Given the description of an element on the screen output the (x, y) to click on. 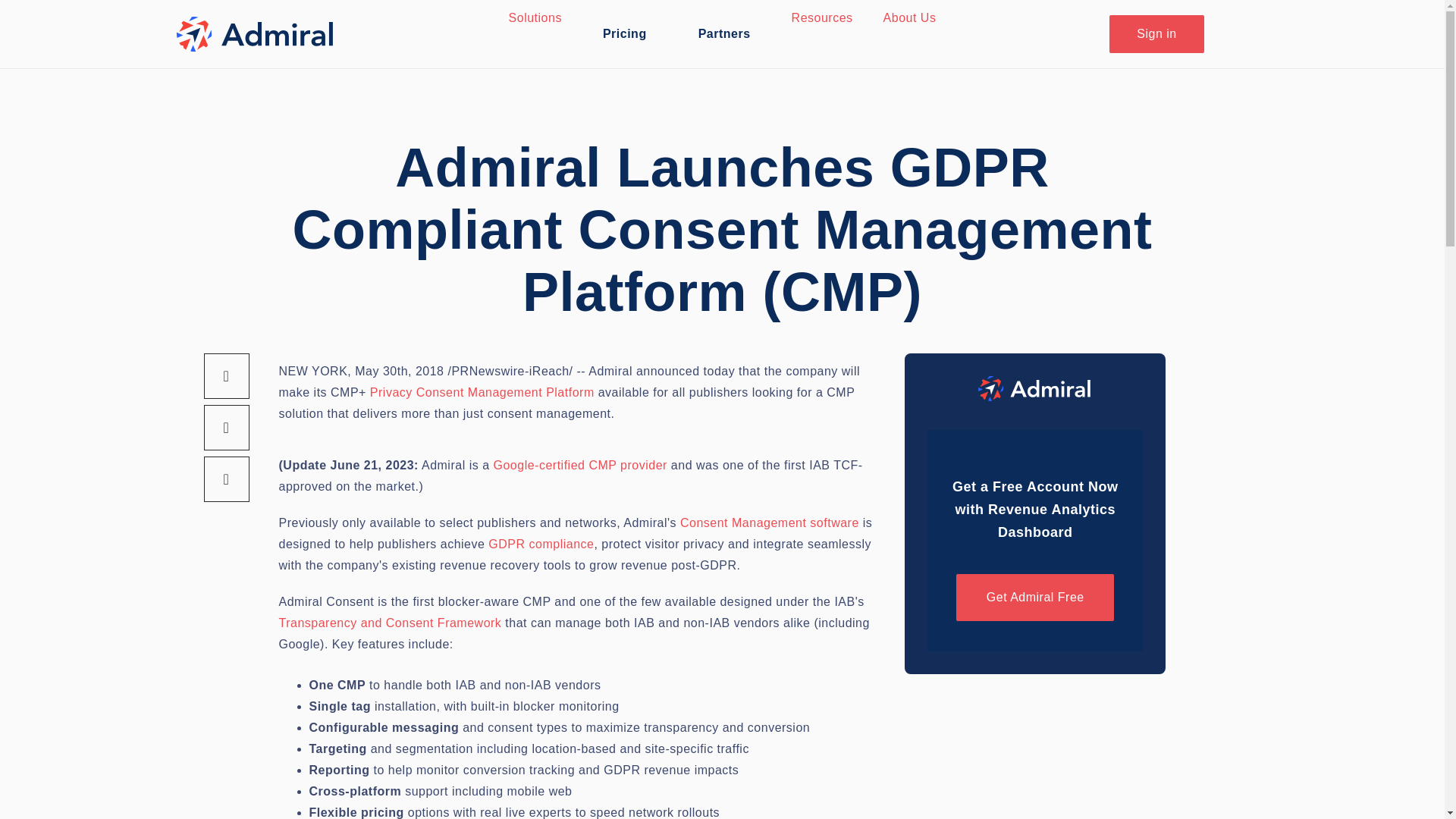
GDPR compliance (540, 543)
Partners (724, 33)
Resources (821, 18)
Sign in (1156, 34)
Get Admiral Free (1034, 597)
Pricing (624, 33)
Share on Facebook (225, 375)
Privacy Consent Management Platform (481, 391)
Solutions (534, 18)
Tweet (225, 427)
